Given the description of an element on the screen output the (x, y) to click on. 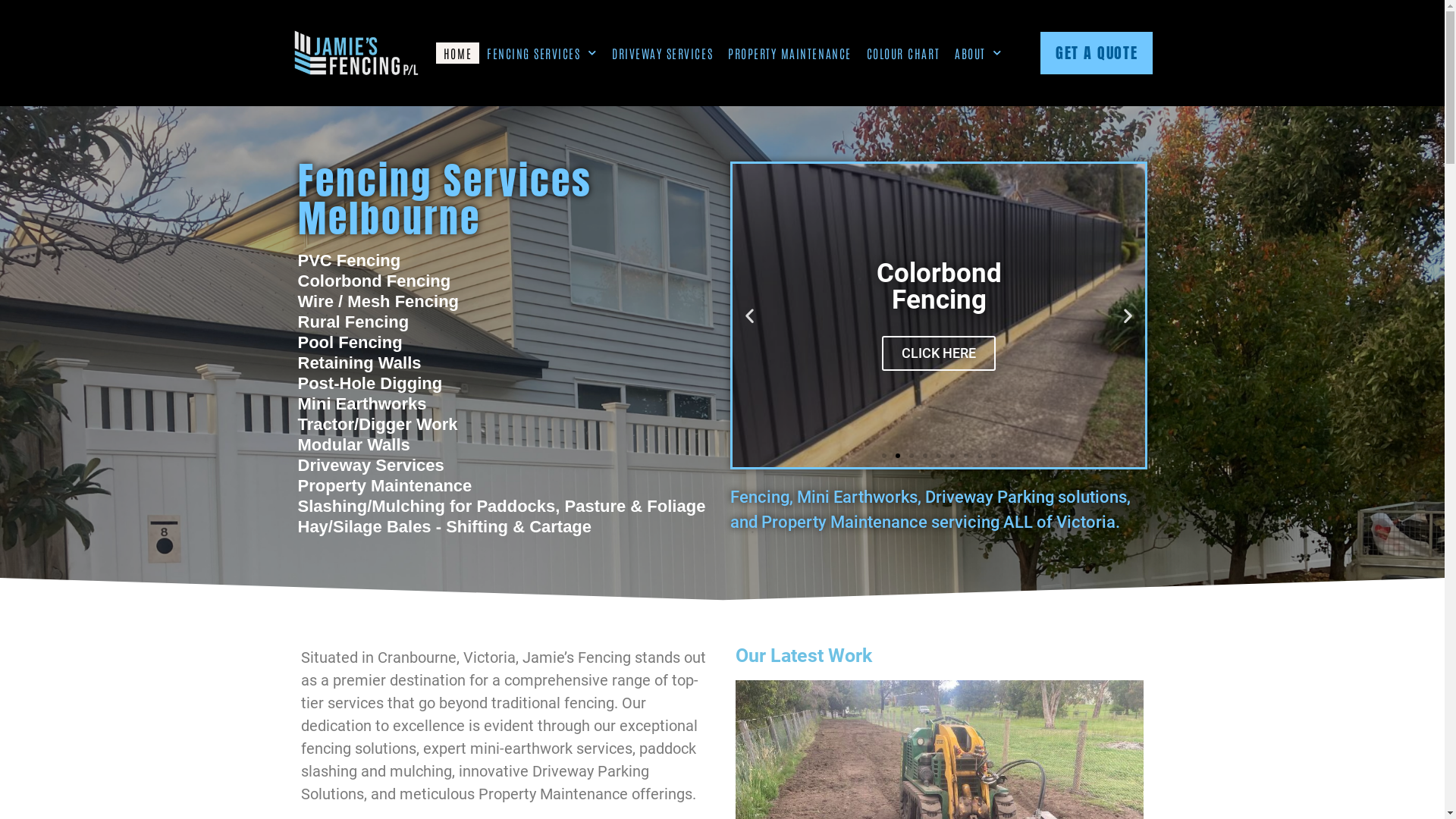
Mini Earthworks Element type: text (361, 403)
Modular Walls Element type: text (353, 444)
Driveway Services Element type: text (370, 464)
Post-Hole Digging Element type: text (369, 382)
PROPERTY MAINTENANCE Element type: text (789, 53)
DRIVEWAY SERVICES Element type: text (662, 53)
Colorbond Fencing
CLICK HERE Element type: text (938, 315)
Retaining Walls Element type: text (358, 362)
Pool Fencing Element type: text (349, 341)
Wire / Mesh Fencing Element type: text (377, 300)
ABOUT Element type: text (978, 53)
Property Maintenance Element type: text (384, 485)
Colorbond Fencing Element type: text (373, 280)
Rural Fencing Element type: text (352, 321)
Hay/Silage Bales - Shifting & Cartage Element type: text (444, 526)
Tractor/Digger Work Element type: text (377, 423)
HOME Element type: text (457, 53)
COLOUR CHART Element type: text (903, 53)
PVC Fencing Element type: text (348, 260)
Slashing/Mulching for Paddocks, Pasture & Foliage Element type: text (501, 505)
FENCING SERVICES Element type: text (541, 53)
GET A QUOTE Element type: text (1096, 53)
